Given the description of an element on the screen output the (x, y) to click on. 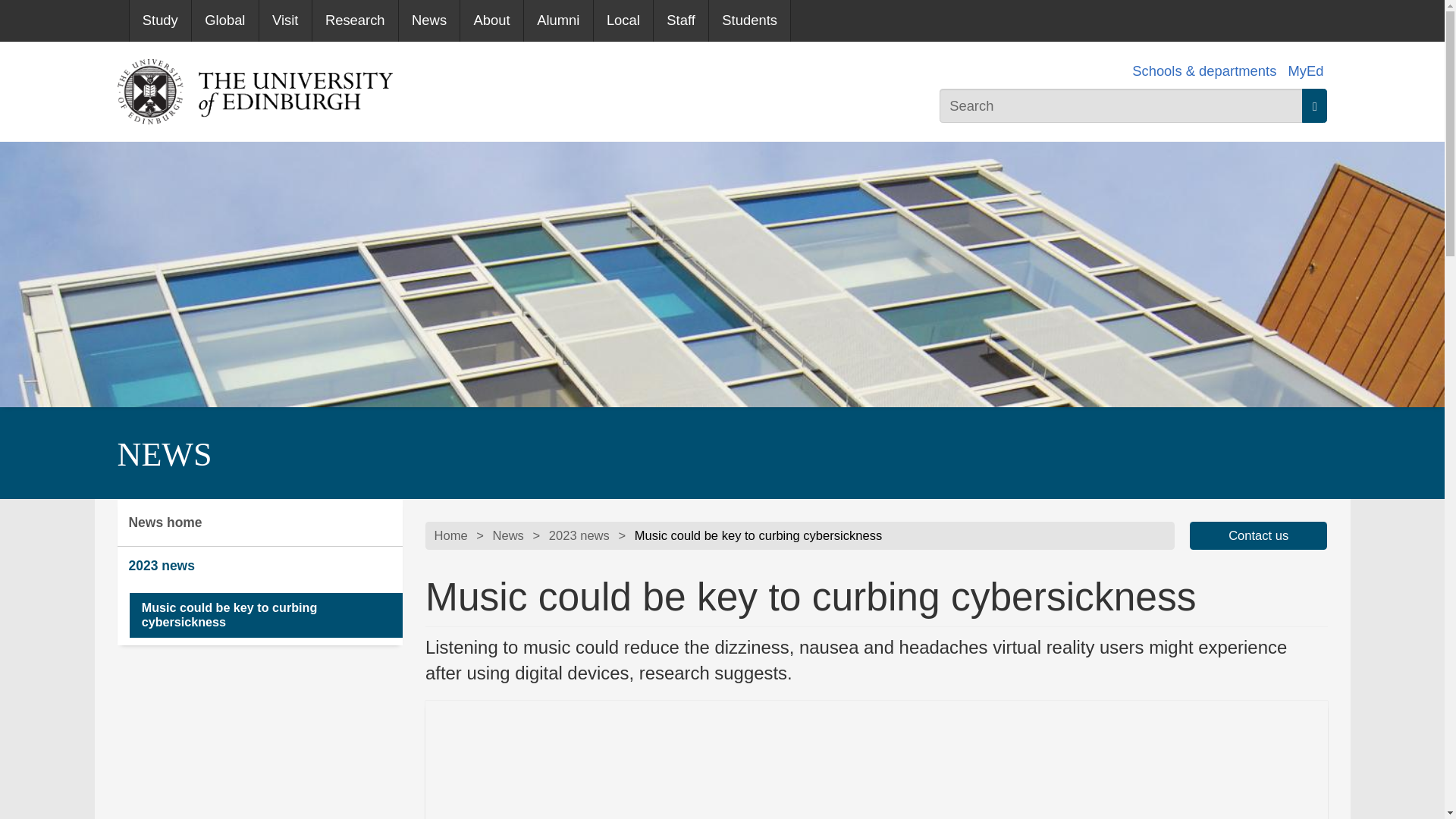
About (491, 20)
Music could be key to curbing cybersickness (266, 615)
Visit (285, 20)
Alumni (558, 20)
Students (749, 20)
Staff (680, 20)
Study (159, 20)
Local (623, 20)
MyEd (1305, 70)
Contact us (1258, 535)
News (429, 20)
2023 news (259, 566)
Home (450, 536)
2023 news (579, 536)
Research (355, 20)
